Given the description of an element on the screen output the (x, y) to click on. 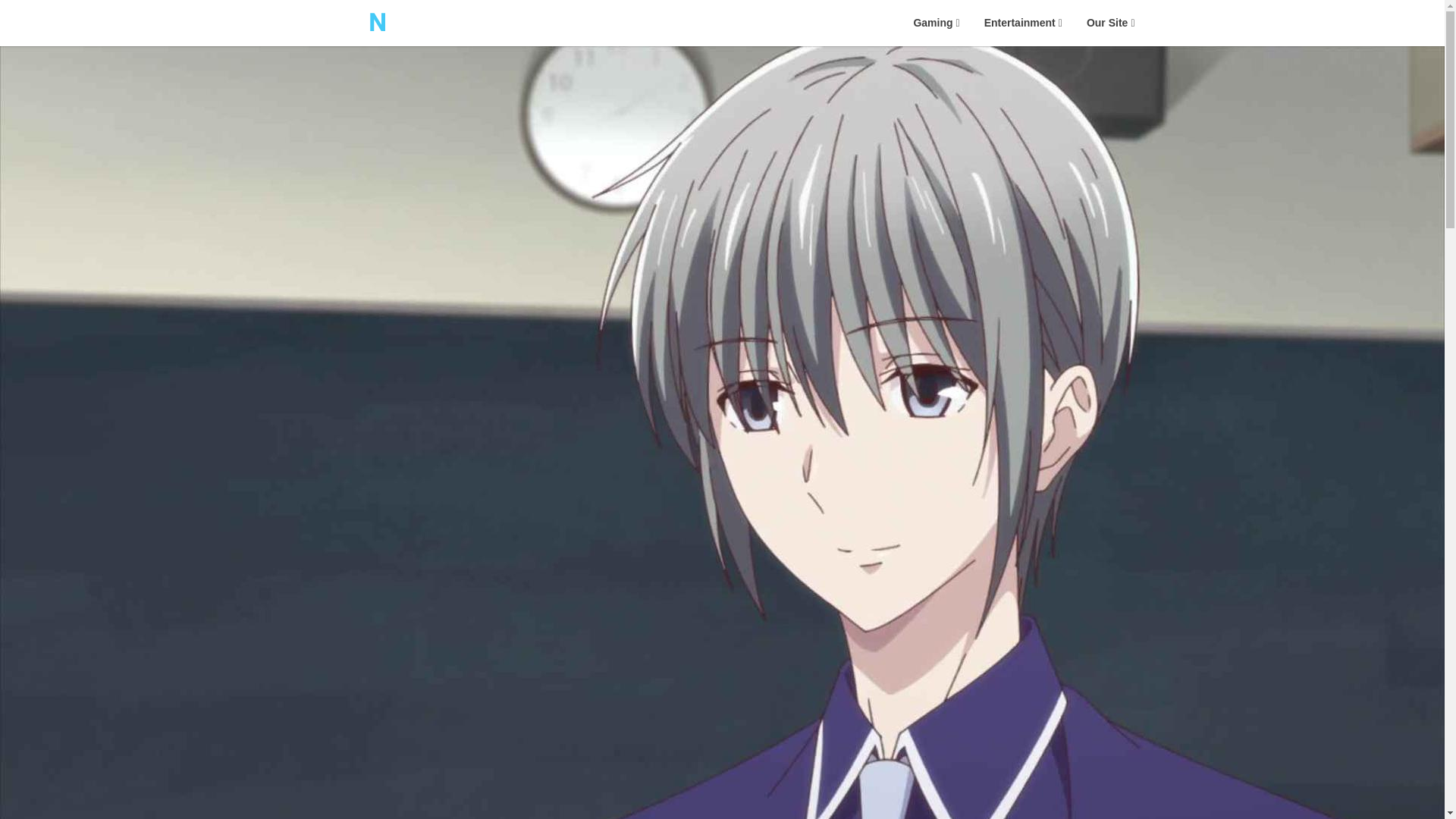
Game N Guides (508, 43)
Gaming (936, 22)
Our Site (1110, 22)
Entertainment (1023, 22)
